Given the description of an element on the screen output the (x, y) to click on. 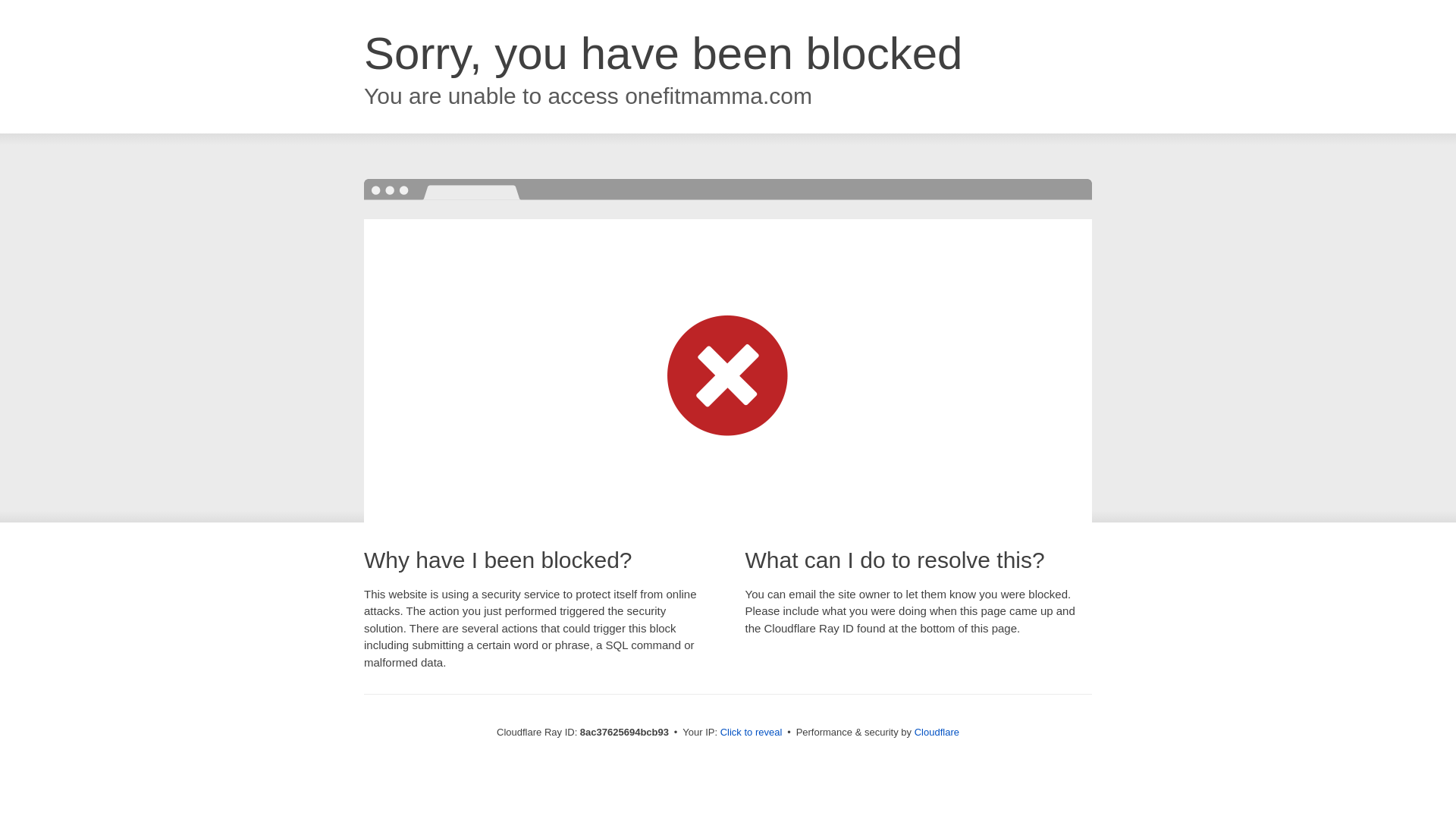
Cloudflare (936, 731)
Click to reveal (751, 732)
